Given the description of an element on the screen output the (x, y) to click on. 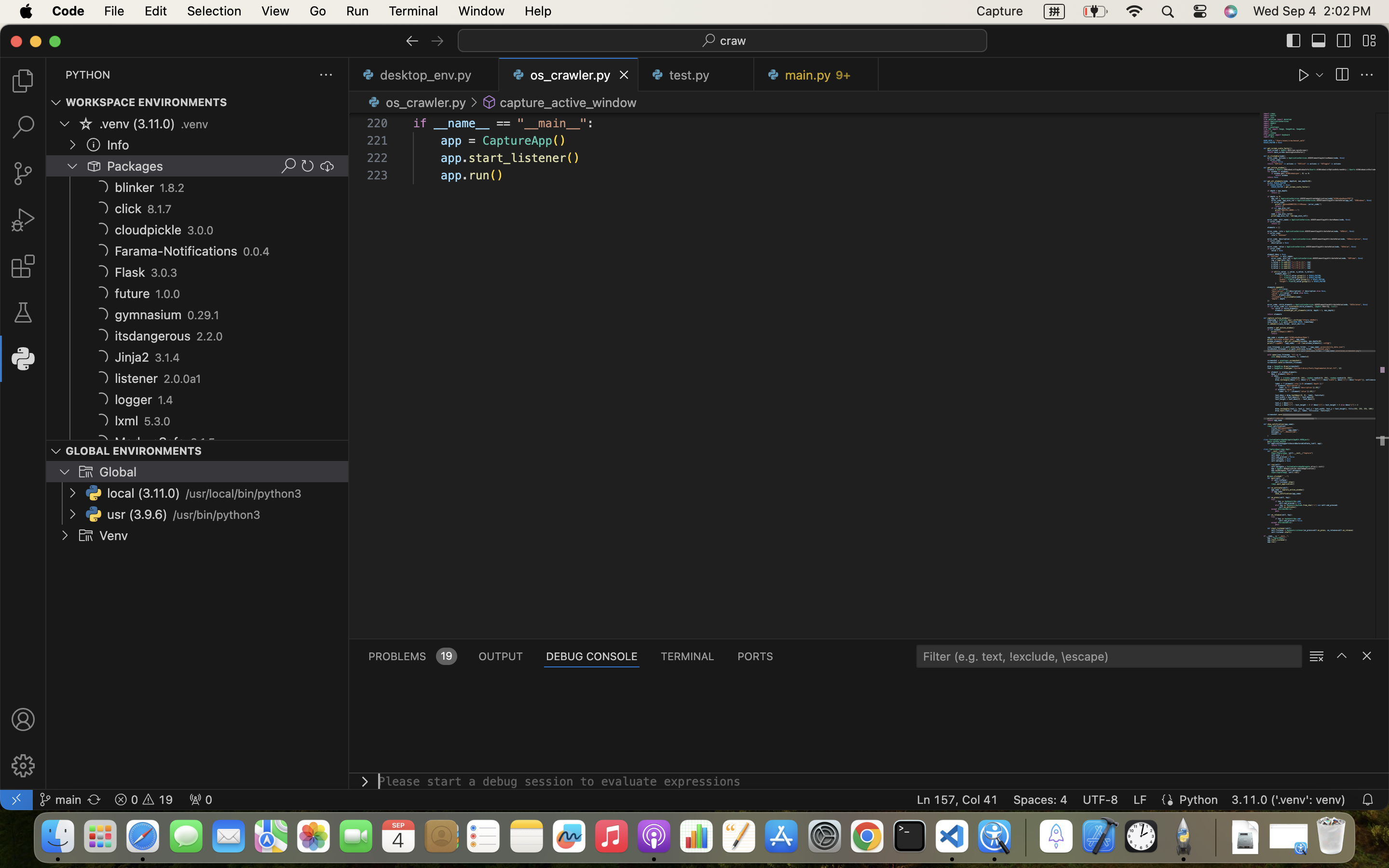
craw Element type: AXStaticText (733, 40)
1 DEBUG CONSOLE Element type: AXRadioButton (591, 655)
 Element type: AXStaticText (22, 765)
 Element type: AXStaticText (85, 123)
0 OUTPUT Element type: AXRadioButton (500, 655)
